Given the description of an element on the screen output the (x, y) to click on. 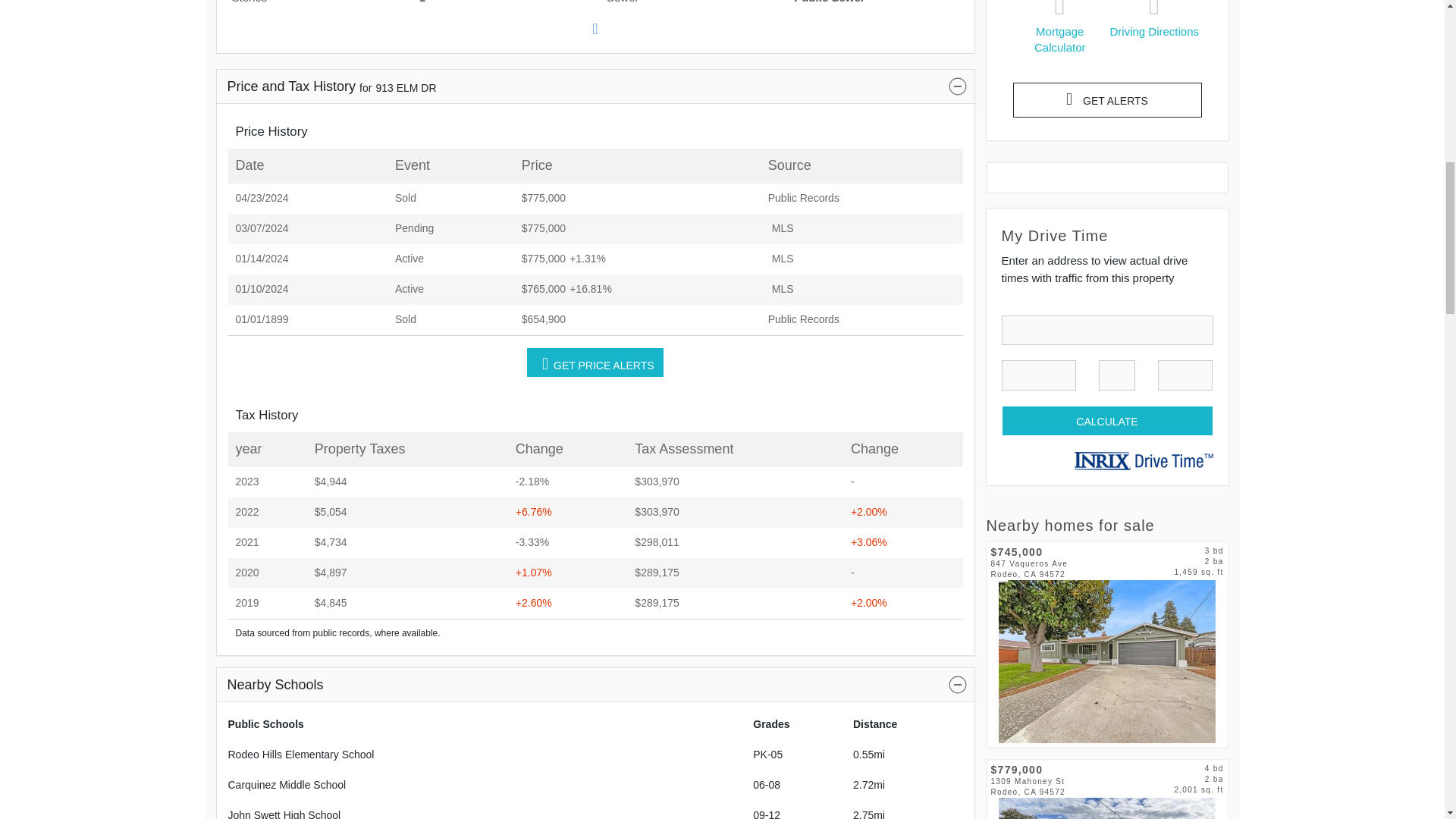
Get Price Alerts (594, 362)
